Given the description of an element on the screen output the (x, y) to click on. 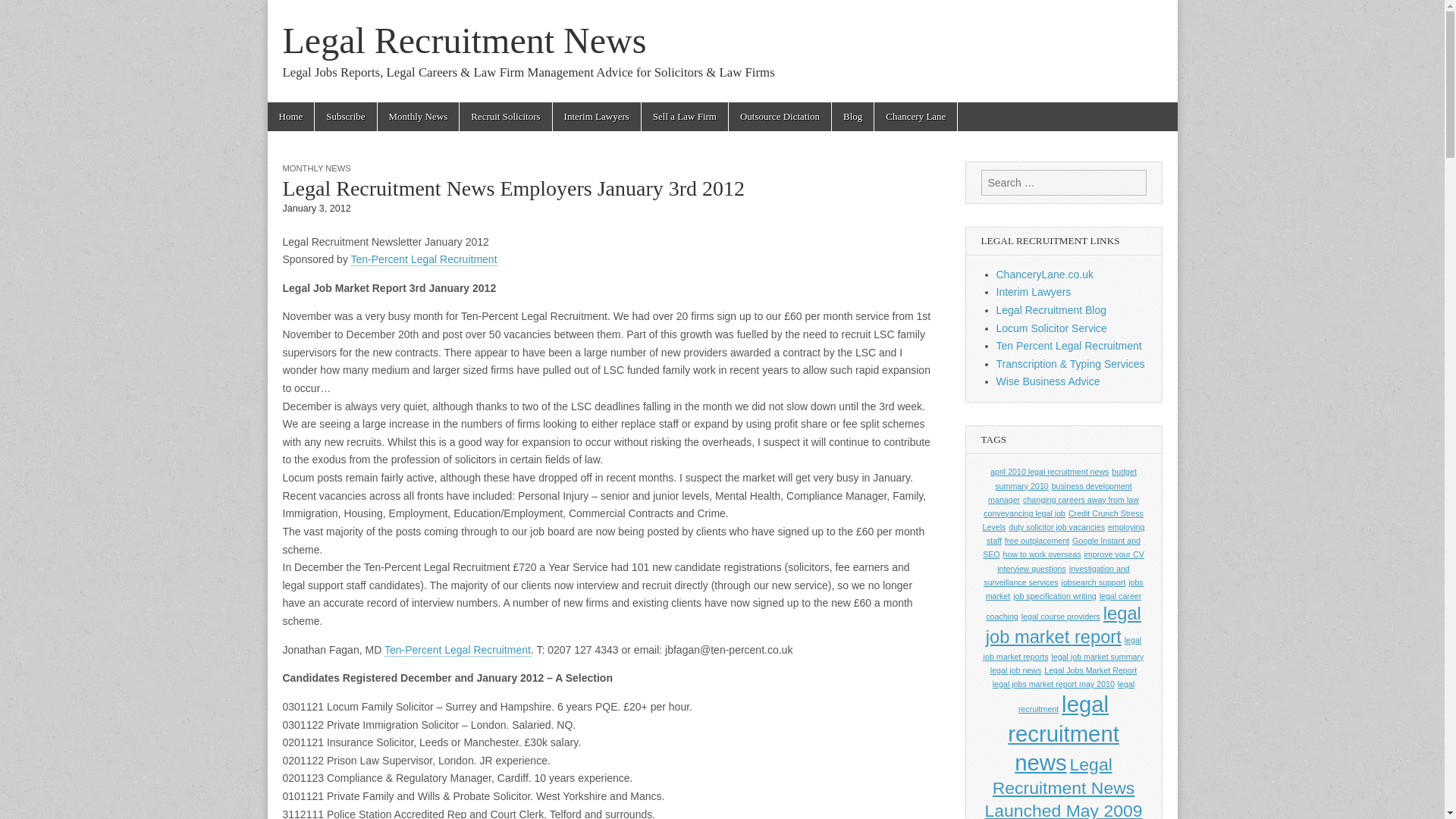
Recruit Solicitors (505, 116)
Interim Lawyers (1033, 291)
Subscribe (344, 116)
business development manager (1060, 491)
Legal Recruitment Blog (1050, 309)
Interim Lawyers Legal Recruitment (1050, 328)
Sell a Law Firm (685, 116)
changing careers away from law (1080, 499)
budget summary 2010 (1065, 477)
Locum Solicitor Service (1050, 328)
